Given the description of an element on the screen output the (x, y) to click on. 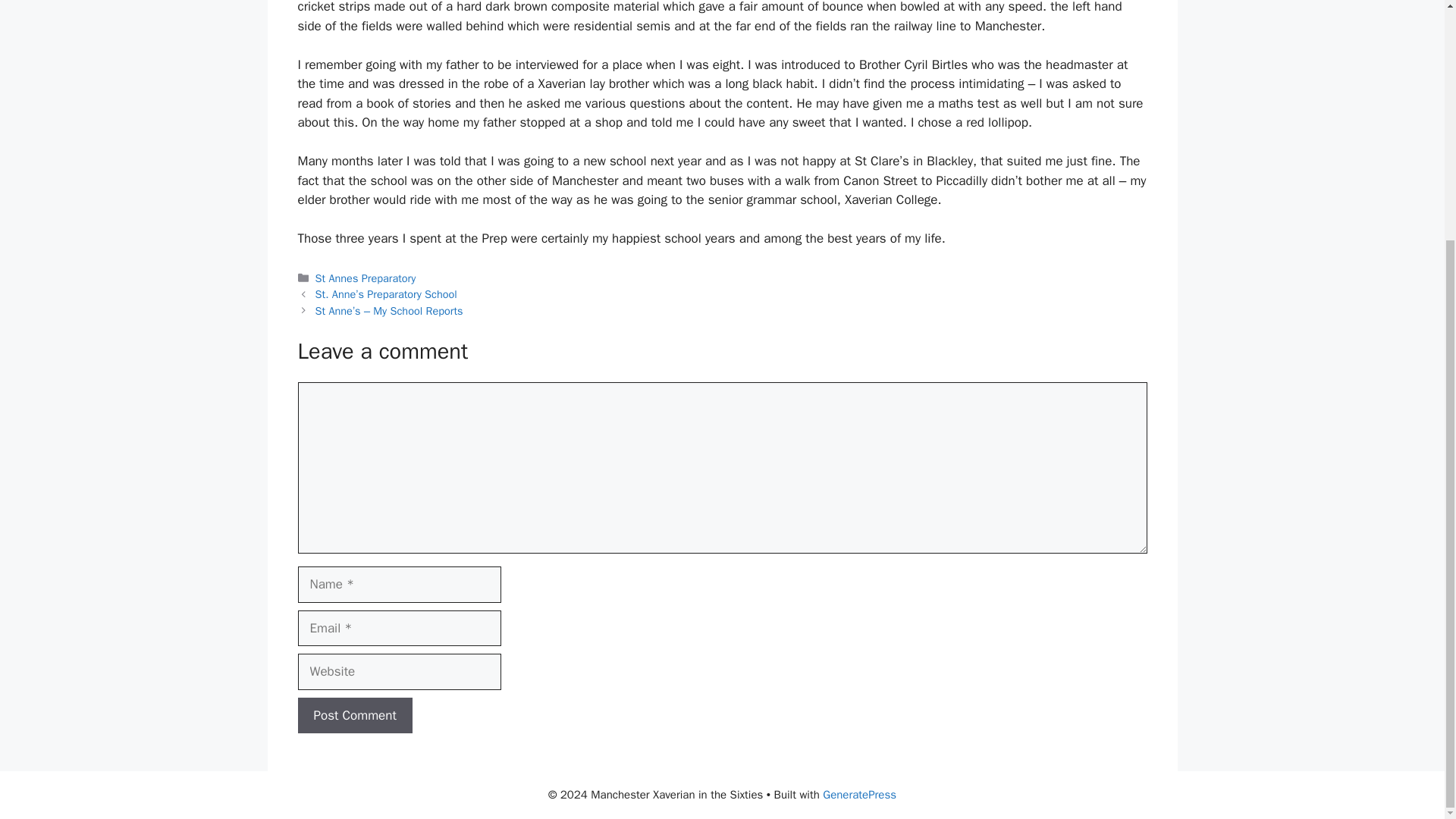
Post Comment (354, 715)
St Annes Preparatory (365, 278)
Post Comment (354, 715)
GeneratePress (859, 794)
